Given the description of an element on the screen output the (x, y) to click on. 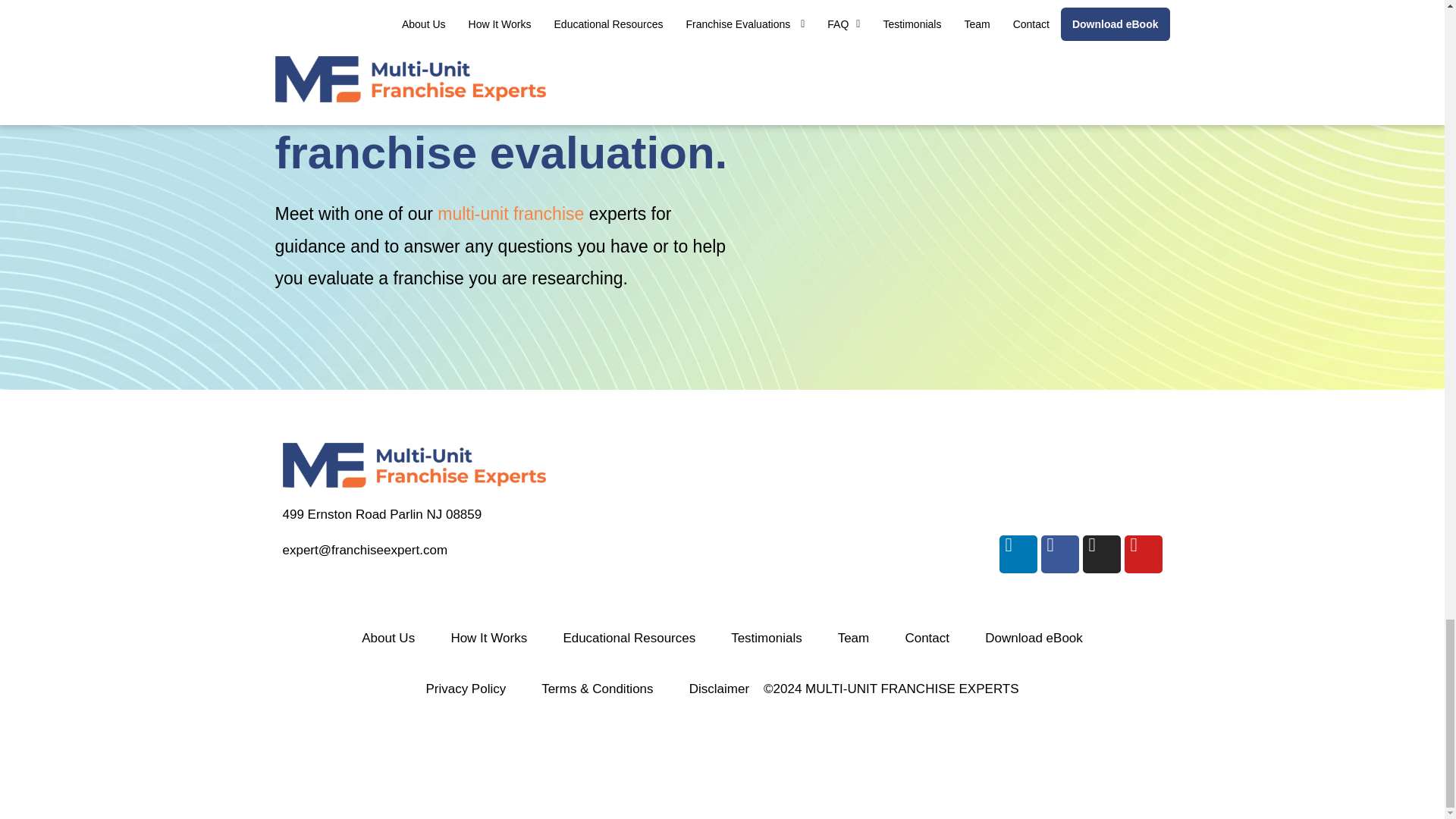
Request Evaluation (975, 181)
